Given the description of an element on the screen output the (x, y) to click on. 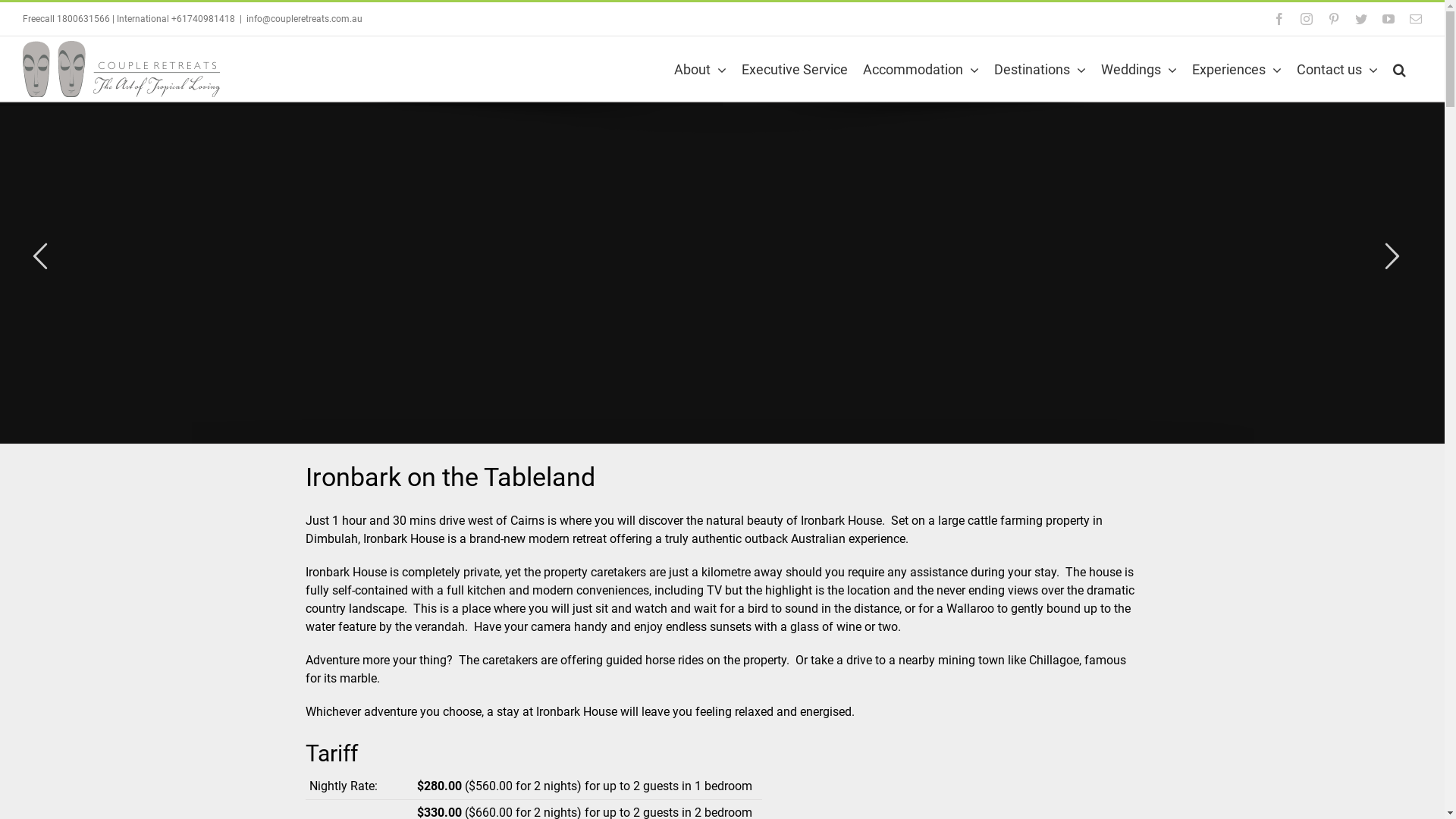
Executive Service Element type: text (794, 68)
Destinations Element type: text (1039, 68)
Accommodation Element type: text (920, 68)
Experiences Element type: text (1236, 68)
Contact us Element type: text (1336, 68)
Email Element type: text (1415, 18)
info@coupleretreats.com.au Element type: text (304, 18)
YouTube Element type: text (1388, 18)
Instagram Element type: text (1306, 18)
Facebook Element type: text (1279, 18)
About Element type: text (700, 68)
Twitter Element type: text (1361, 18)
Weddings Element type: text (1138, 68)
Pinterest Element type: text (1333, 18)
Search Element type: hover (1399, 68)
